Given the description of an element on the screen output the (x, y) to click on. 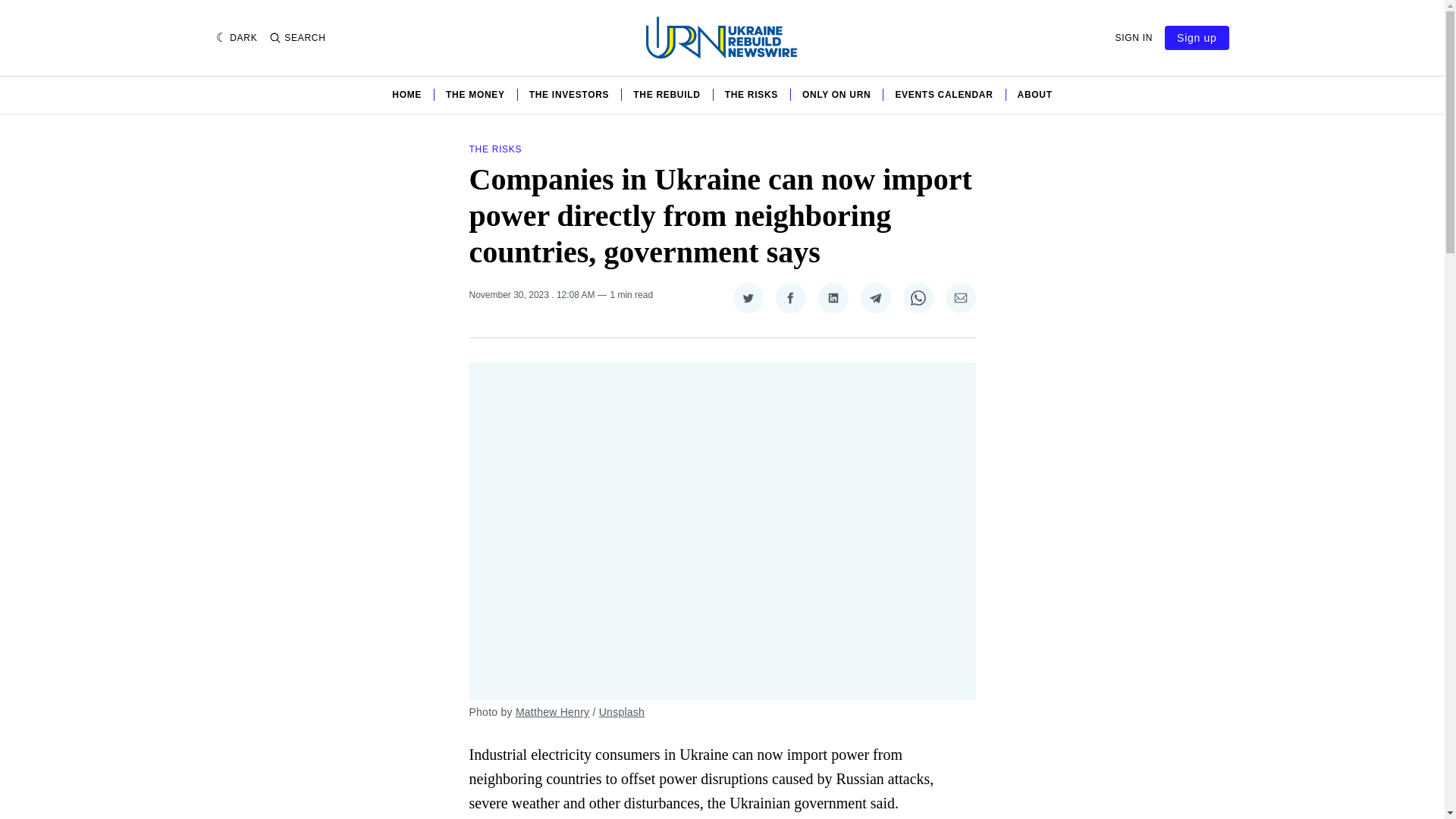
Share on Telegram (874, 297)
SIGN IN (1134, 37)
SEARCH (296, 37)
THE INVESTORS (569, 94)
Unsplash (621, 711)
DARK (236, 37)
Share on Facebook (789, 297)
ONLY ON URN (836, 94)
Share on WhatsApp (917, 297)
THE RISKS (494, 149)
Share on LinkedIn (831, 297)
Share via Email (959, 297)
HOME (406, 94)
EVENTS CALENDAR (943, 94)
Sign up (1196, 37)
